Given the description of an element on the screen output the (x, y) to click on. 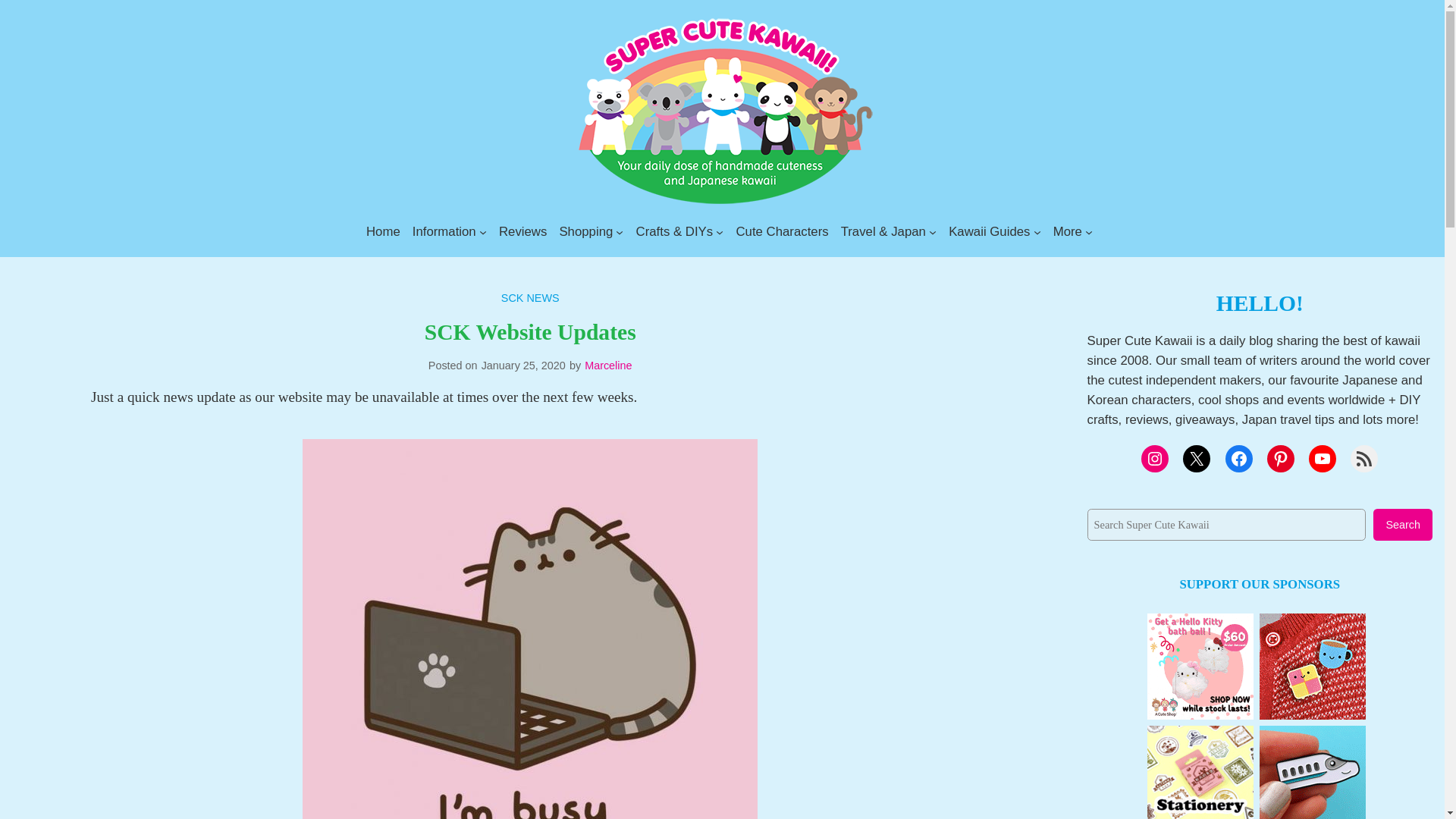
Shopping (585, 231)
Reviews (523, 231)
Home (383, 231)
Information (444, 231)
